Given the description of an element on the screen output the (x, y) to click on. 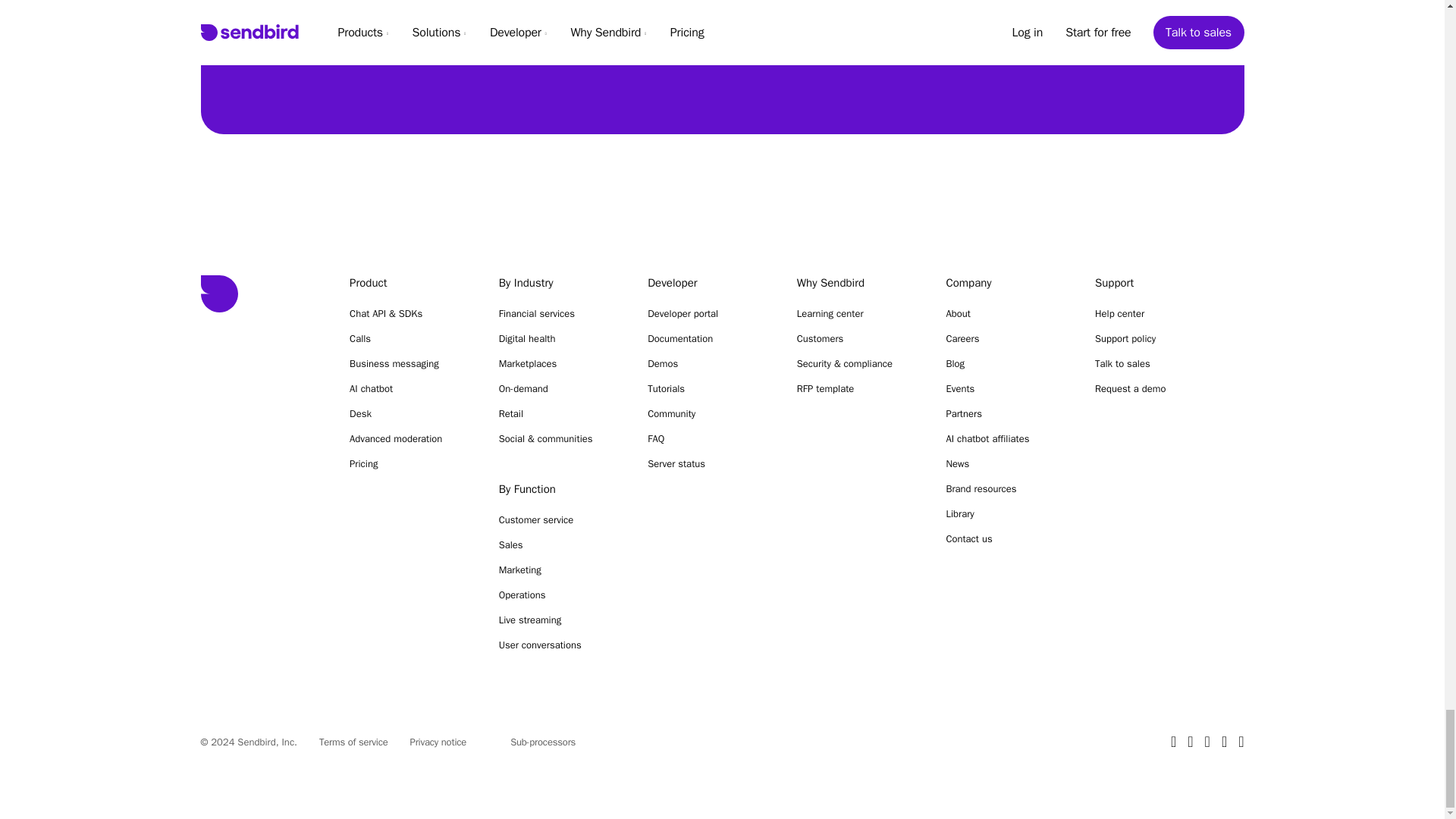
Customer service (558, 519)
Desk (408, 413)
Marketing (558, 569)
Operations (558, 594)
Business messaging (408, 363)
Marketplaces (558, 363)
On-demand (558, 388)
Calls (408, 338)
Advanced moderation (408, 438)
Retail (558, 413)
AI chatbot (408, 388)
Pricing (408, 463)
Financial services (558, 313)
Live streaming (558, 619)
Sales (558, 544)
